Given the description of an element on the screen output the (x, y) to click on. 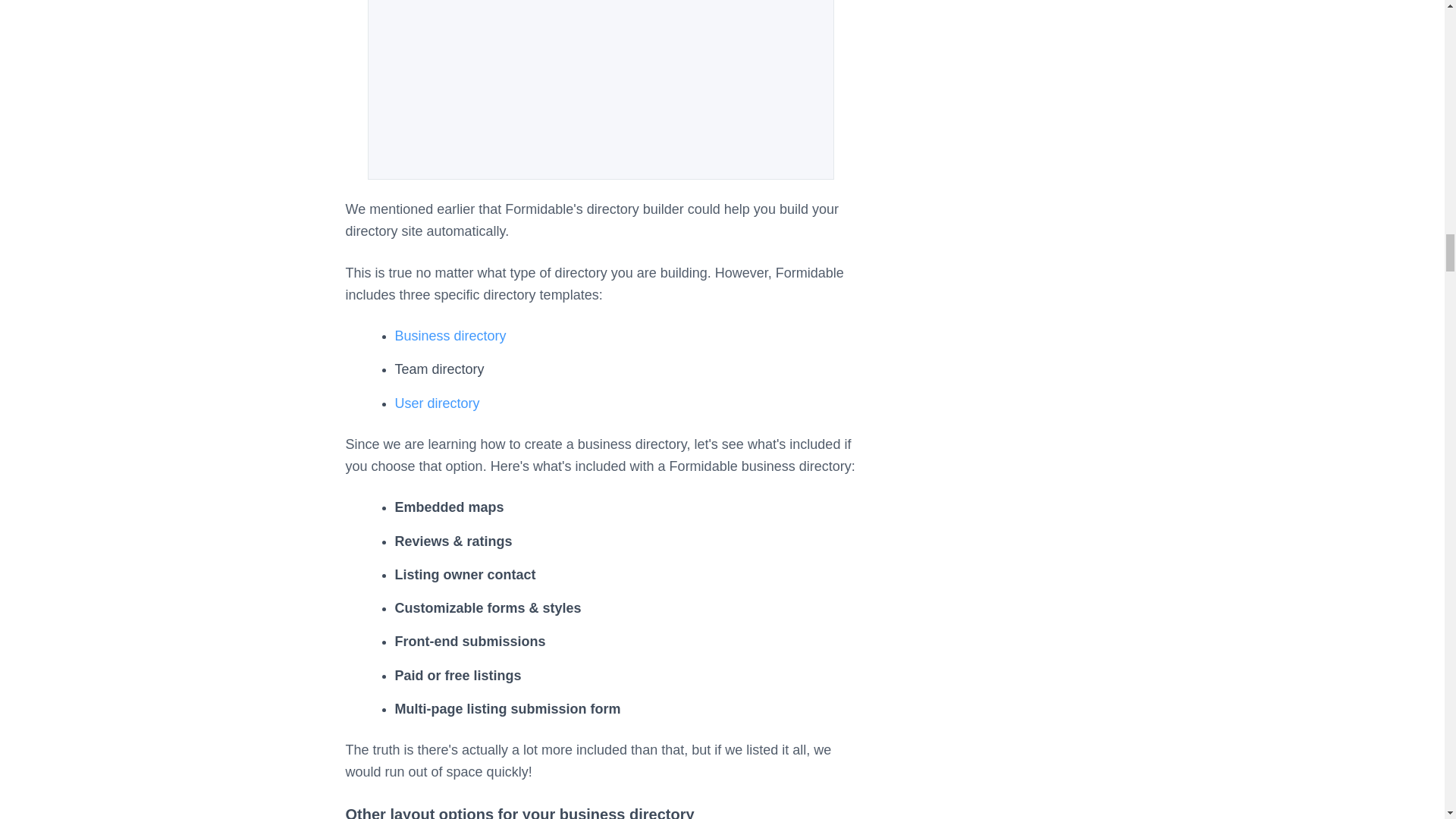
Business directory (449, 335)
User directory (436, 403)
